Given the description of an element on the screen output the (x, y) to click on. 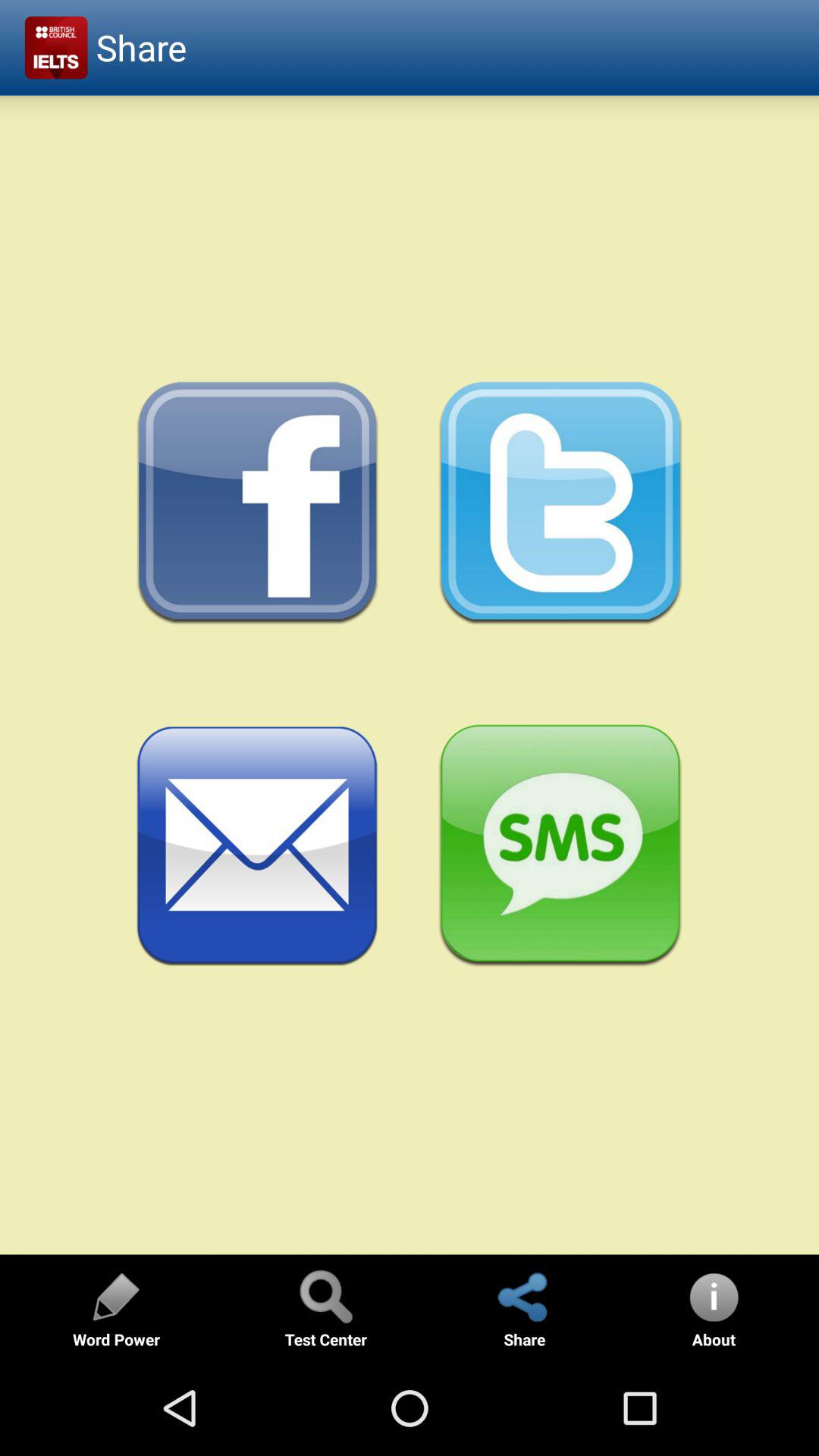
share on twitter option (560, 503)
